Given the description of an element on the screen output the (x, y) to click on. 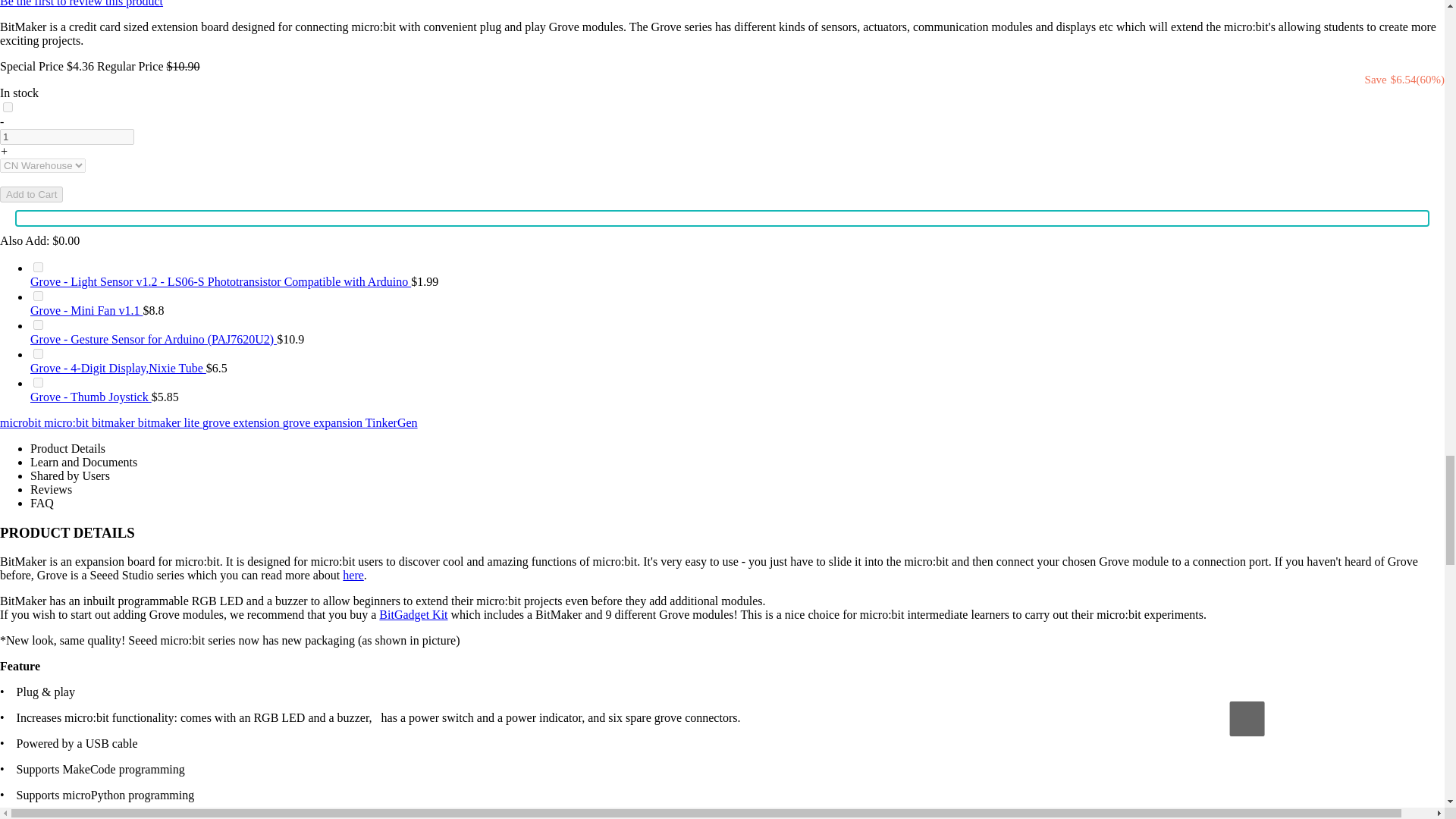
Add to Cart (31, 194)
Product Details (67, 448)
Be the first to review this product (81, 3)
on (7, 107)
Grove - Mini Fan v1.1 (86, 309)
Quantity (66, 136)
micro:bit (67, 422)
on (38, 382)
on (38, 353)
